Given the description of an element on the screen output the (x, y) to click on. 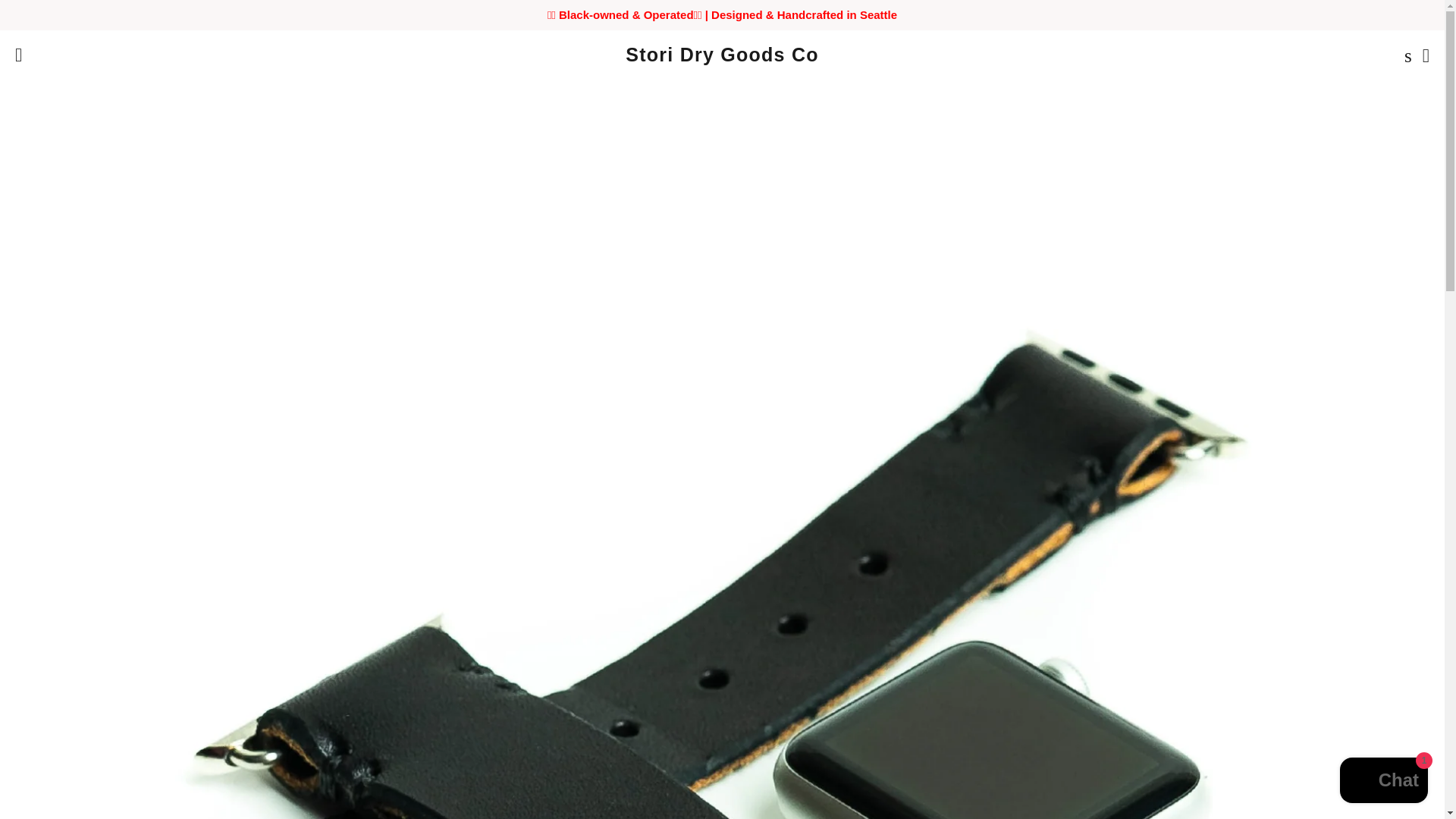
Cart (1426, 53)
Search (1404, 53)
Menu (18, 54)
Shopify online store chat (1383, 781)
Stori Dry Goods Co (722, 54)
